Given the description of an element on the screen output the (x, y) to click on. 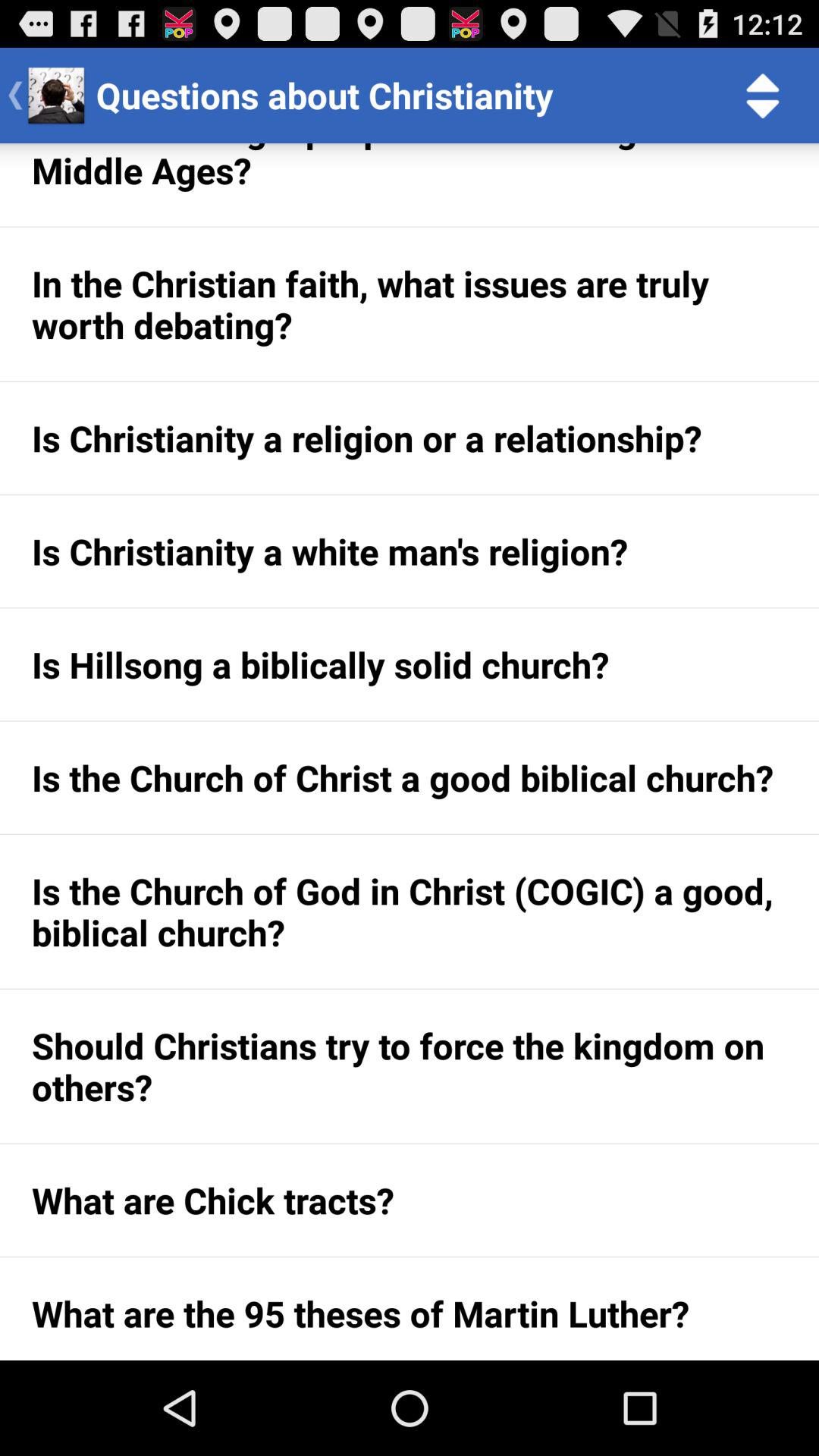
flip until should christians try icon (409, 1066)
